Given the description of an element on the screen output the (x, y) to click on. 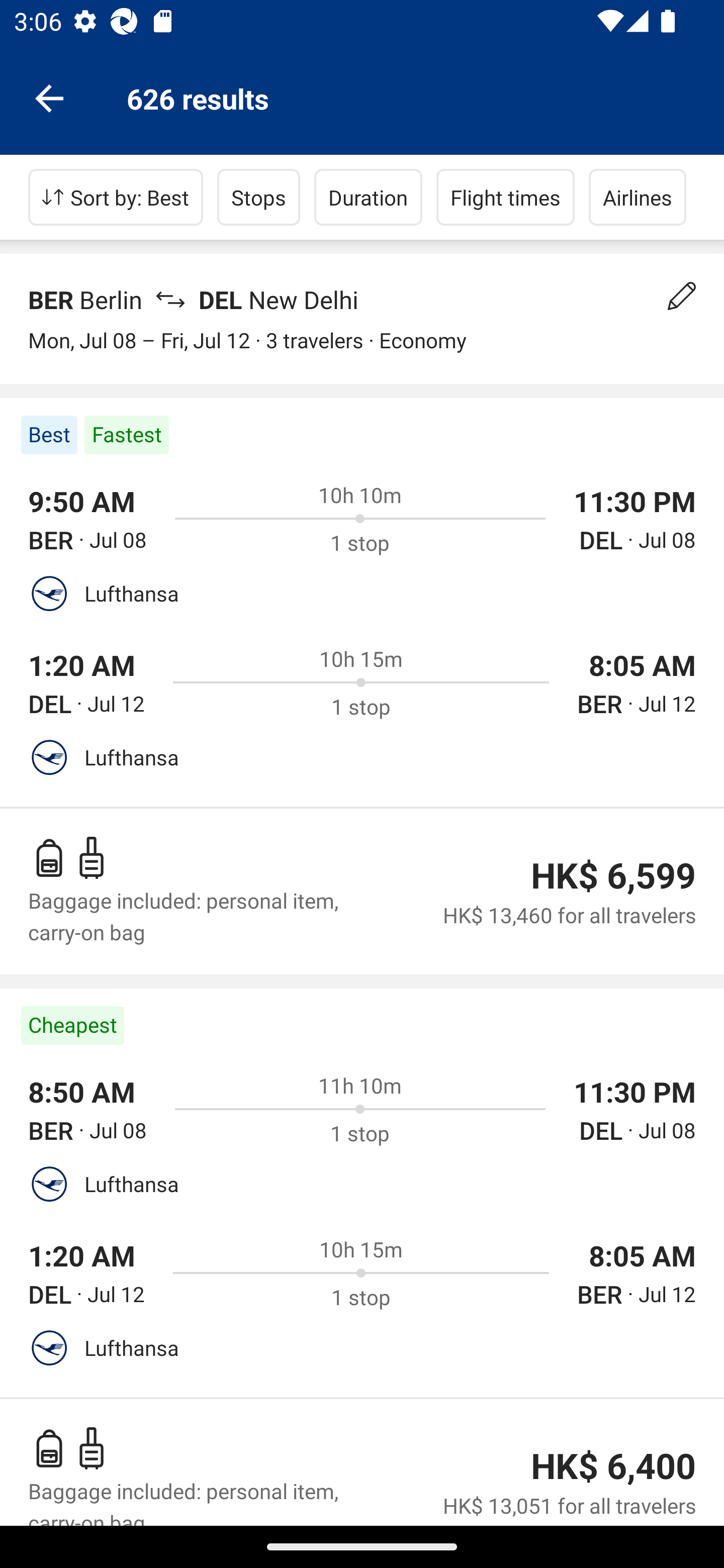
Navigate up (49, 97)
Sort by: Best (115, 197)
Stops (258, 197)
Duration (368, 197)
Flight times (505, 197)
Airlines (637, 197)
Change your search details (681, 296)
HK$ 6,599 (612, 875)
HK$ 6,400 (612, 1466)
